Given the description of an element on the screen output the (x, y) to click on. 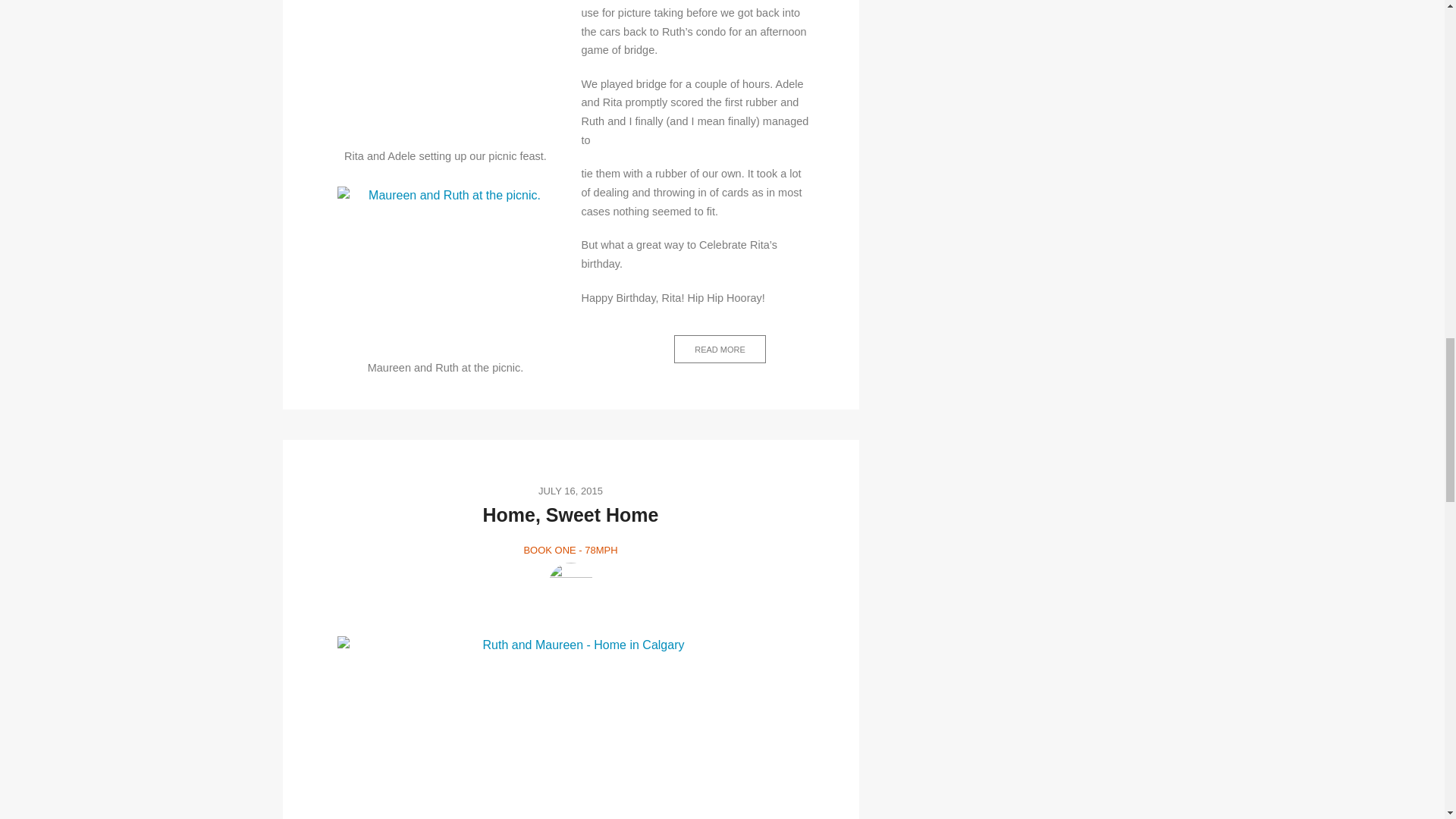
READ MORE (719, 348)
JULY 16, 2015 (570, 490)
Home, Sweet Home (569, 514)
Home, Sweet Home (569, 514)
BOOK ONE - 78MPH (569, 550)
Maureen O'Shea (570, 584)
